Given the description of an element on the screen output the (x, y) to click on. 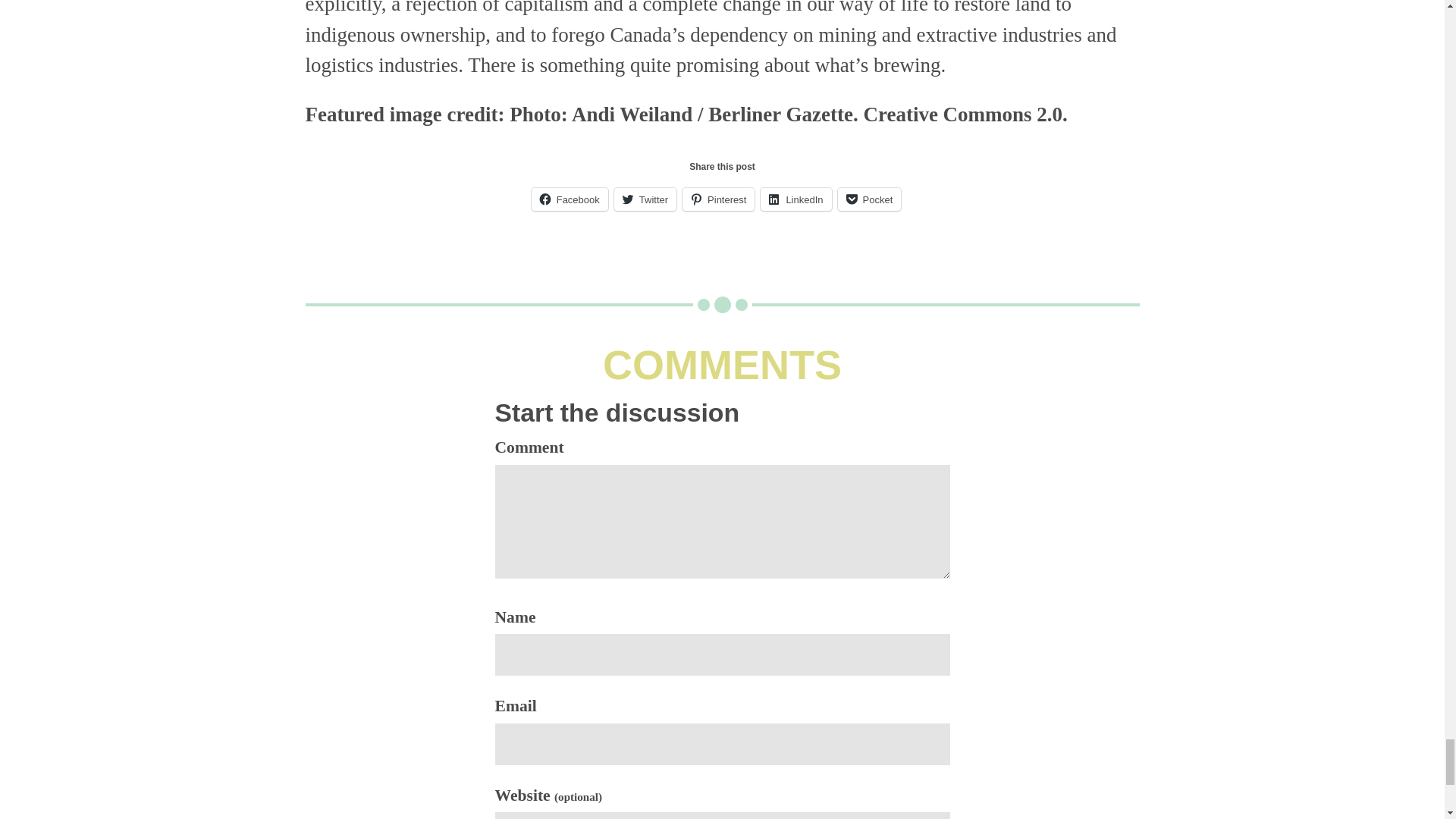
Facebook (569, 199)
Pocket (869, 199)
LinkedIn (795, 199)
Twitter (645, 199)
Click to share on LinkedIn (795, 199)
Click to share on Facebook (569, 199)
Click to share on Pocket (869, 199)
Click to share on Pinterest (718, 199)
Click to share on Twitter (645, 199)
Pinterest (718, 199)
